Given the description of an element on the screen output the (x, y) to click on. 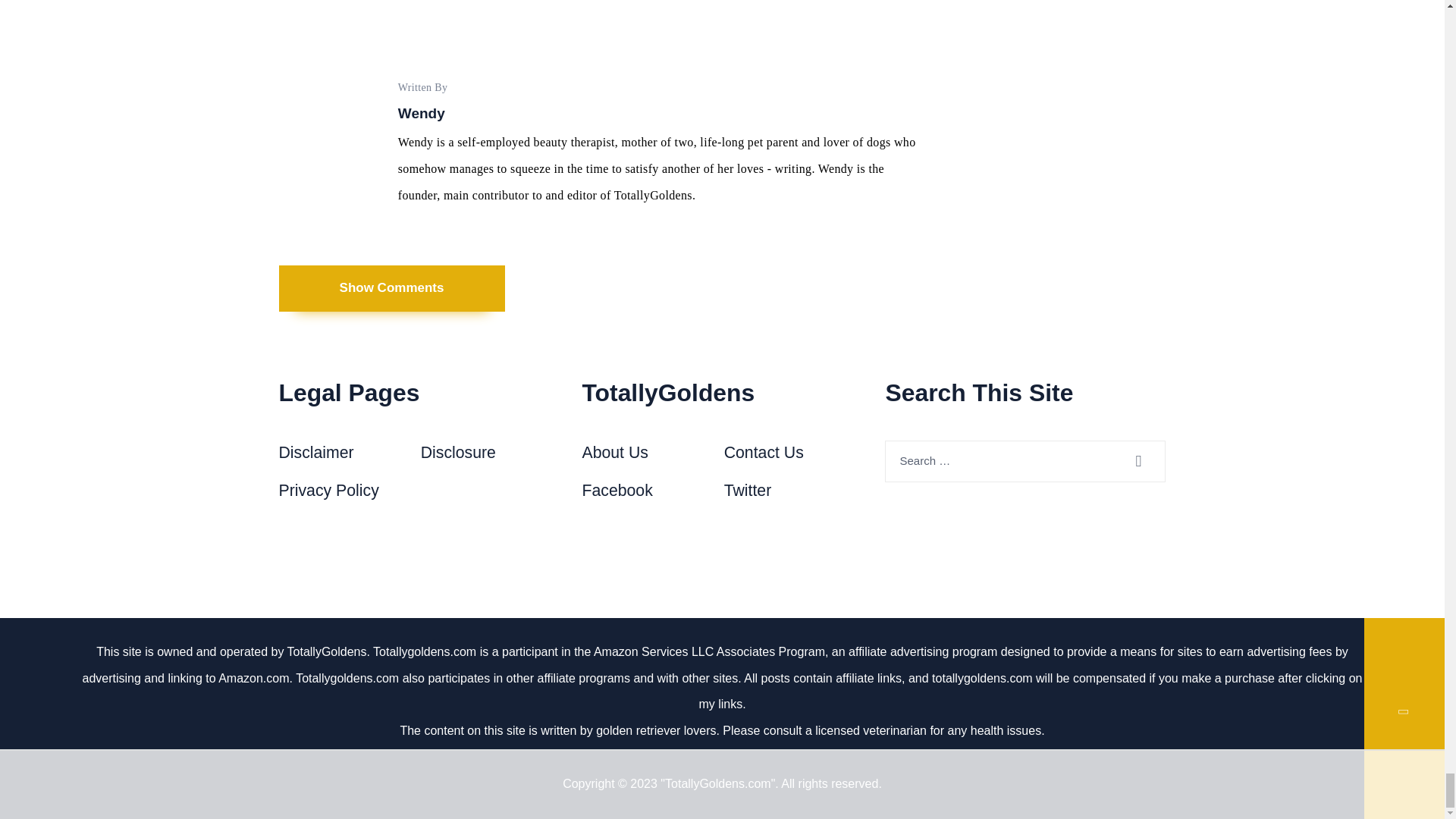
Search (1146, 461)
Search (1146, 461)
